Given the description of an element on the screen output the (x, y) to click on. 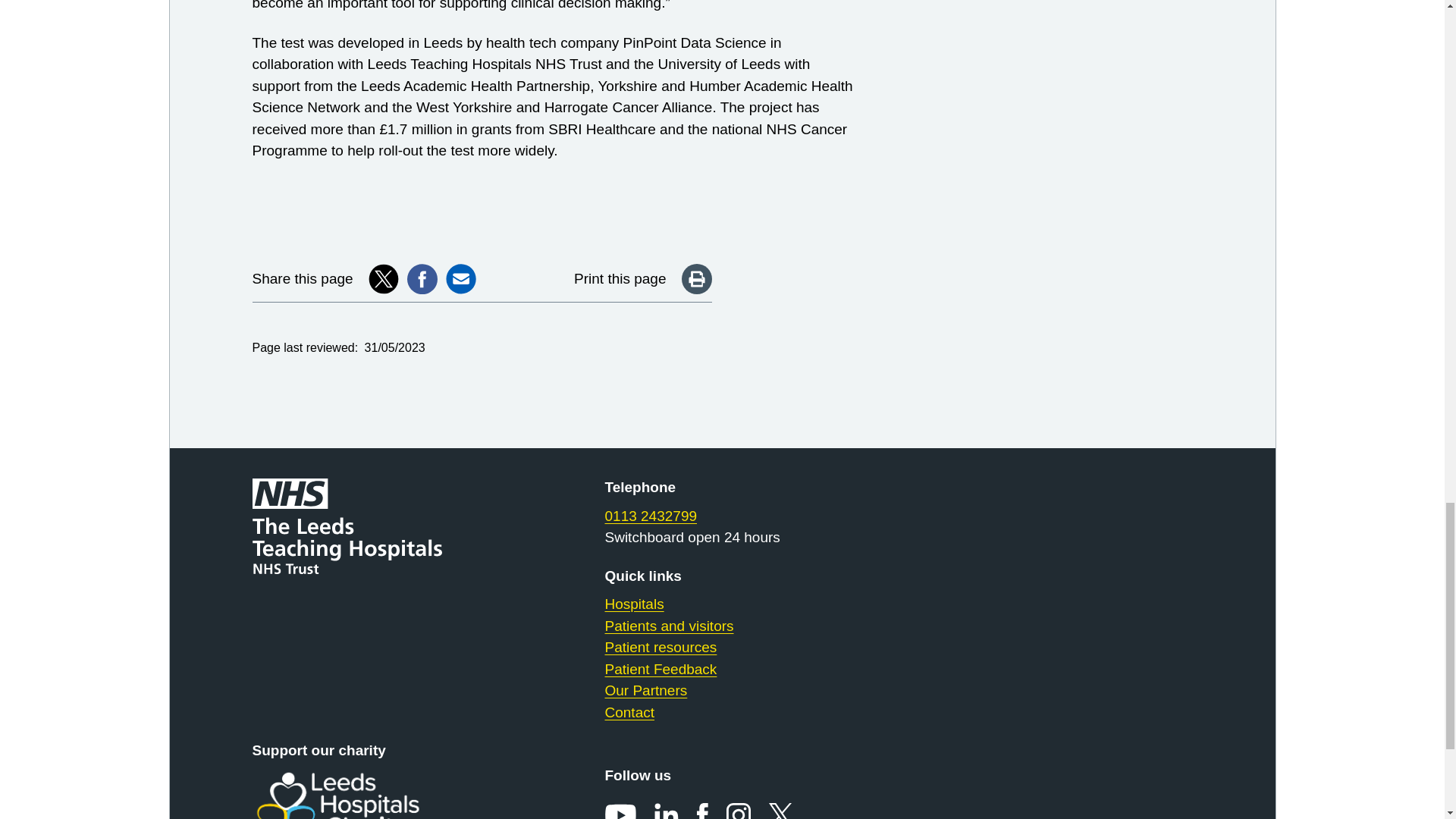
Share via Email (460, 278)
Leeds Hospital Charity (359, 795)
Share on Facebook (422, 278)
Leeds Teaching Hospitals NHS Trust Homepage (359, 526)
